Given the description of an element on the screen output the (x, y) to click on. 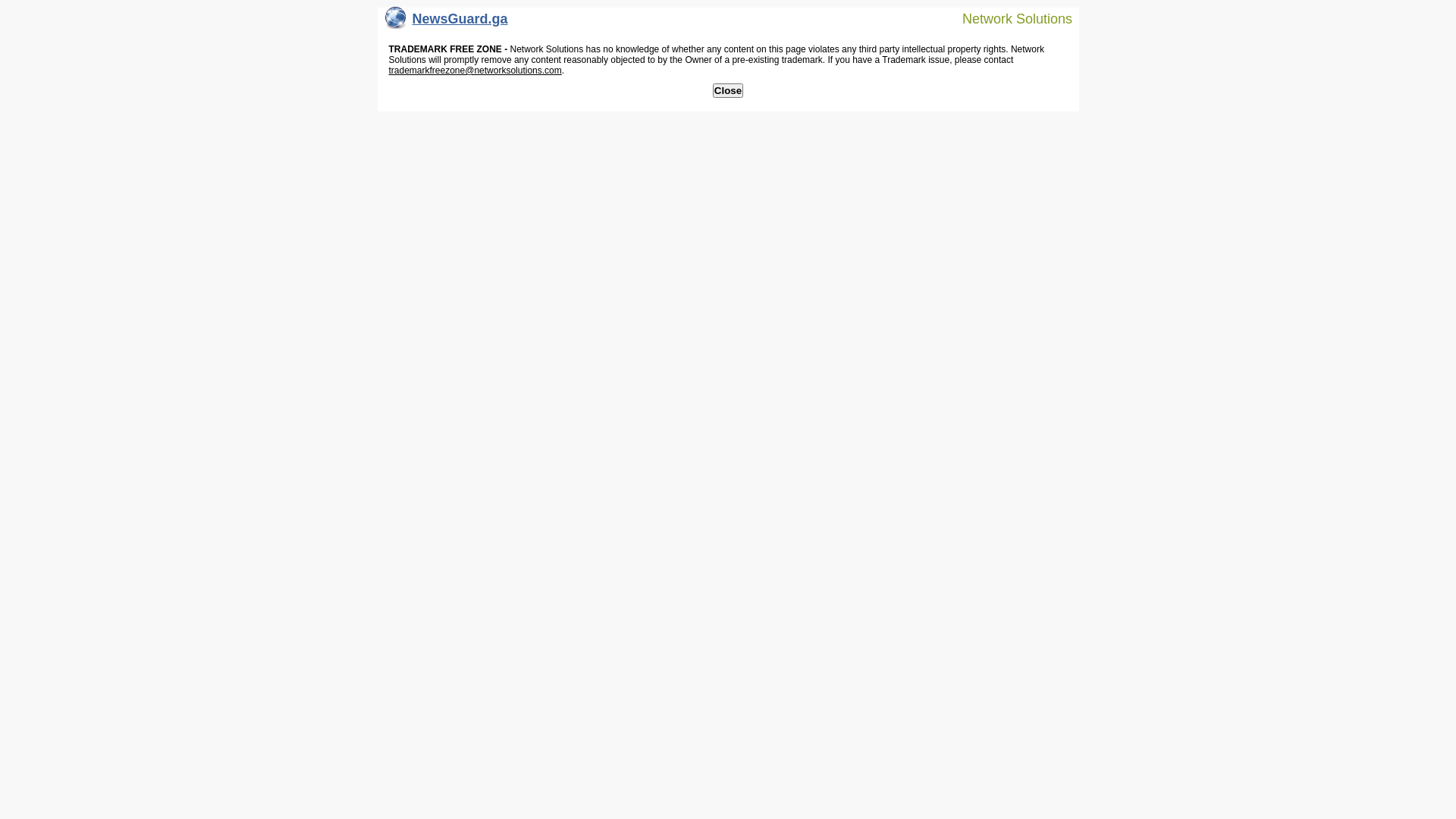
NewsGuard.ga Element type: text (446, 21)
Close Element type: text (727, 90)
Network Solutions Element type: text (1007, 17)
trademarkfreezone@networksolutions.com Element type: text (474, 70)
